Given the description of an element on the screen output the (x, y) to click on. 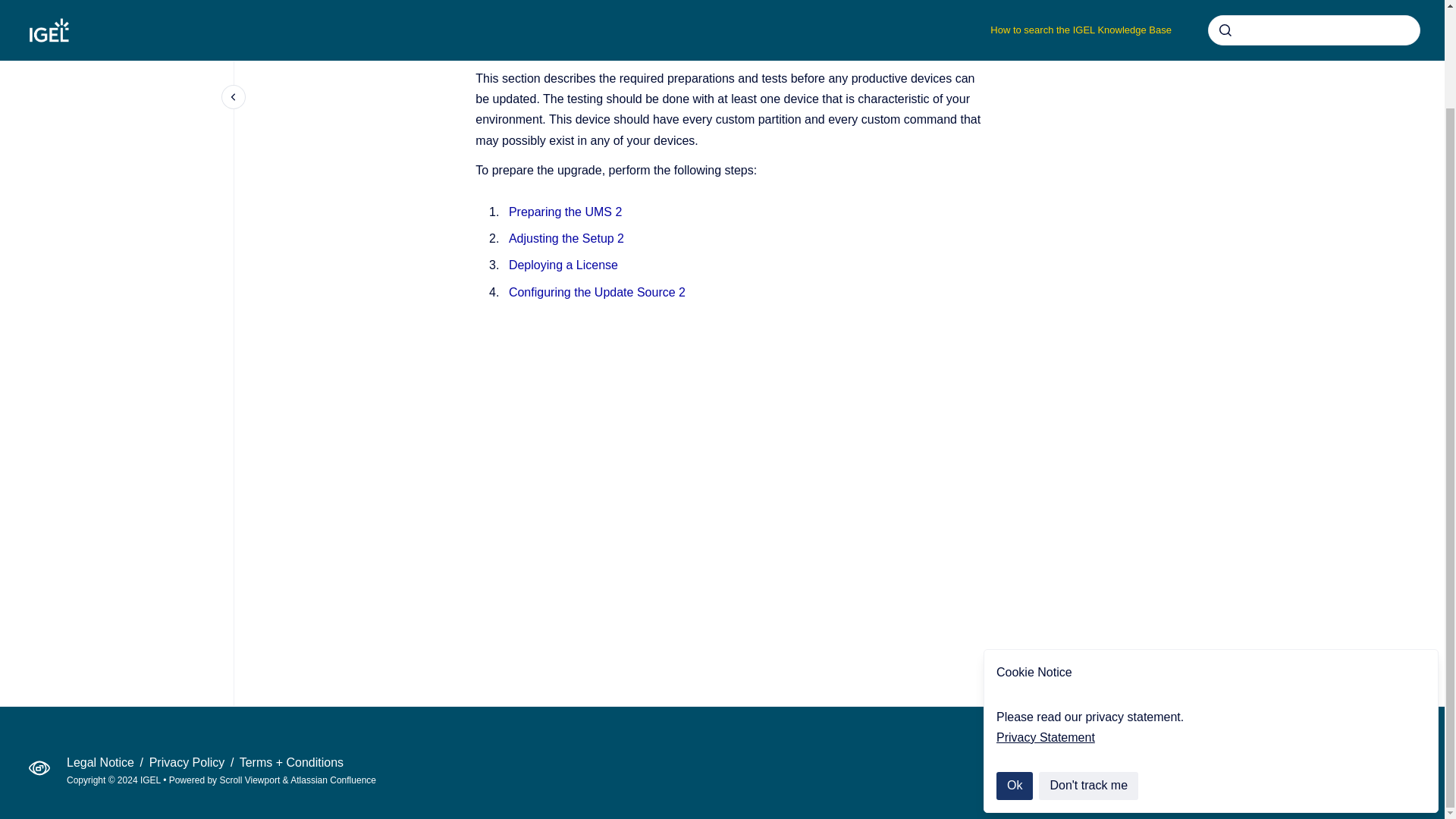
Privacy Policy (188, 762)
Privacy Statement (1044, 623)
Preparing the UMS 2 (564, 211)
Scroll Viewport (250, 779)
Ok (1013, 672)
Zero-Touch Deployment Using Buddy Update (844, 1)
Don't track me (1088, 672)
Deploying a License (562, 264)
Atlassian Confluence (332, 779)
Upgrading IGEL Devices from IGEL OS 10 to IGEL OS 11 (602, 1)
Adjusting the Setup 2 (566, 237)
Configuring the Update Source 2 (596, 291)
Legal Notice (101, 762)
